Given the description of an element on the screen output the (x, y) to click on. 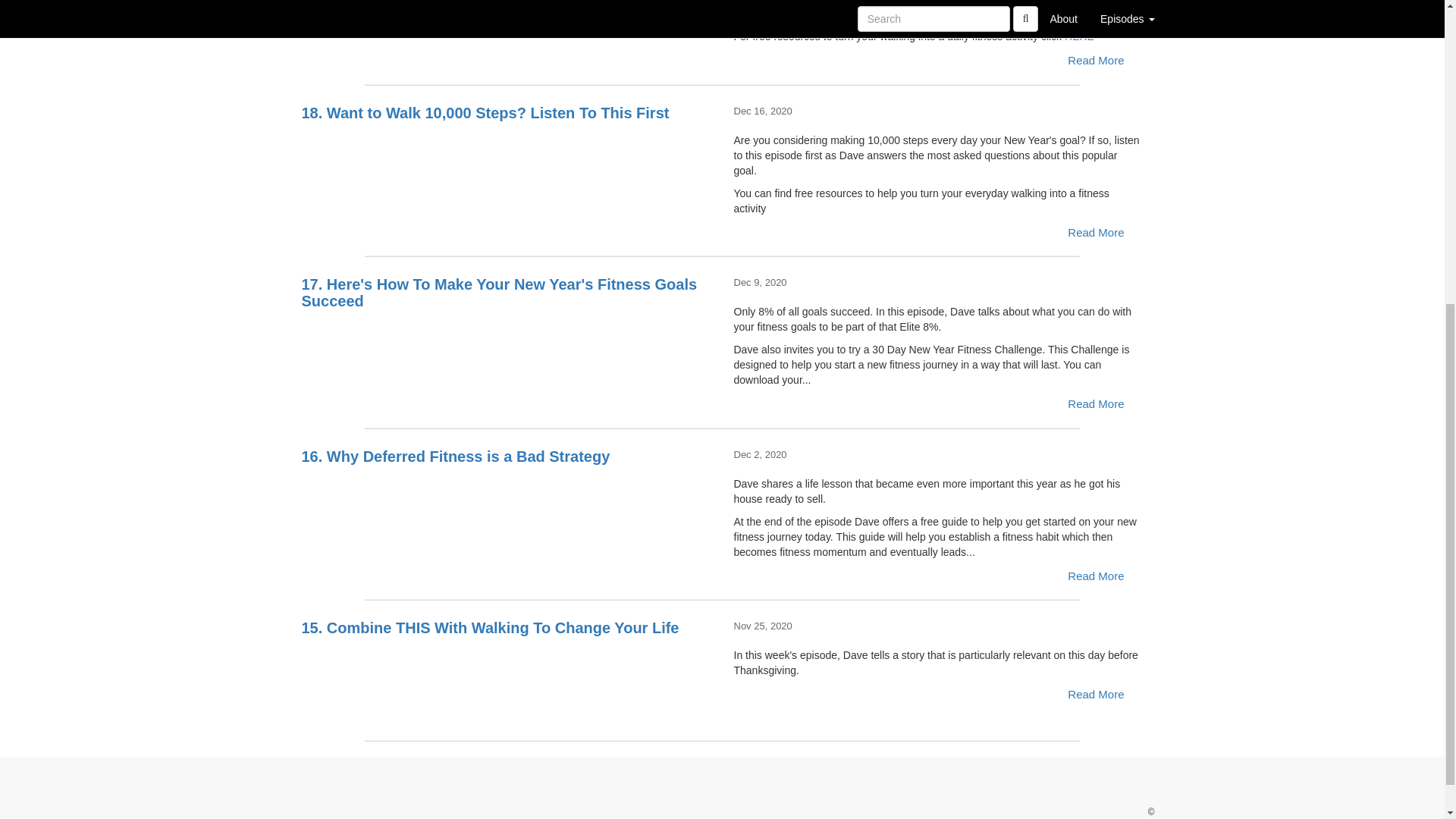
19. The Walk That Made One Special Christmas Unforgettable (506, 22)
18. Want to Walk 10,000 Steps? Listen To This First (506, 159)
15. Combine THIS With Walking To Change Your Life (506, 673)
16. Why Deferred Fitness is a Bad Strategy (506, 502)
17. Here's How To Make Your New Year's Fitness Goals Succeed (506, 346)
